Given the description of an element on the screen output the (x, y) to click on. 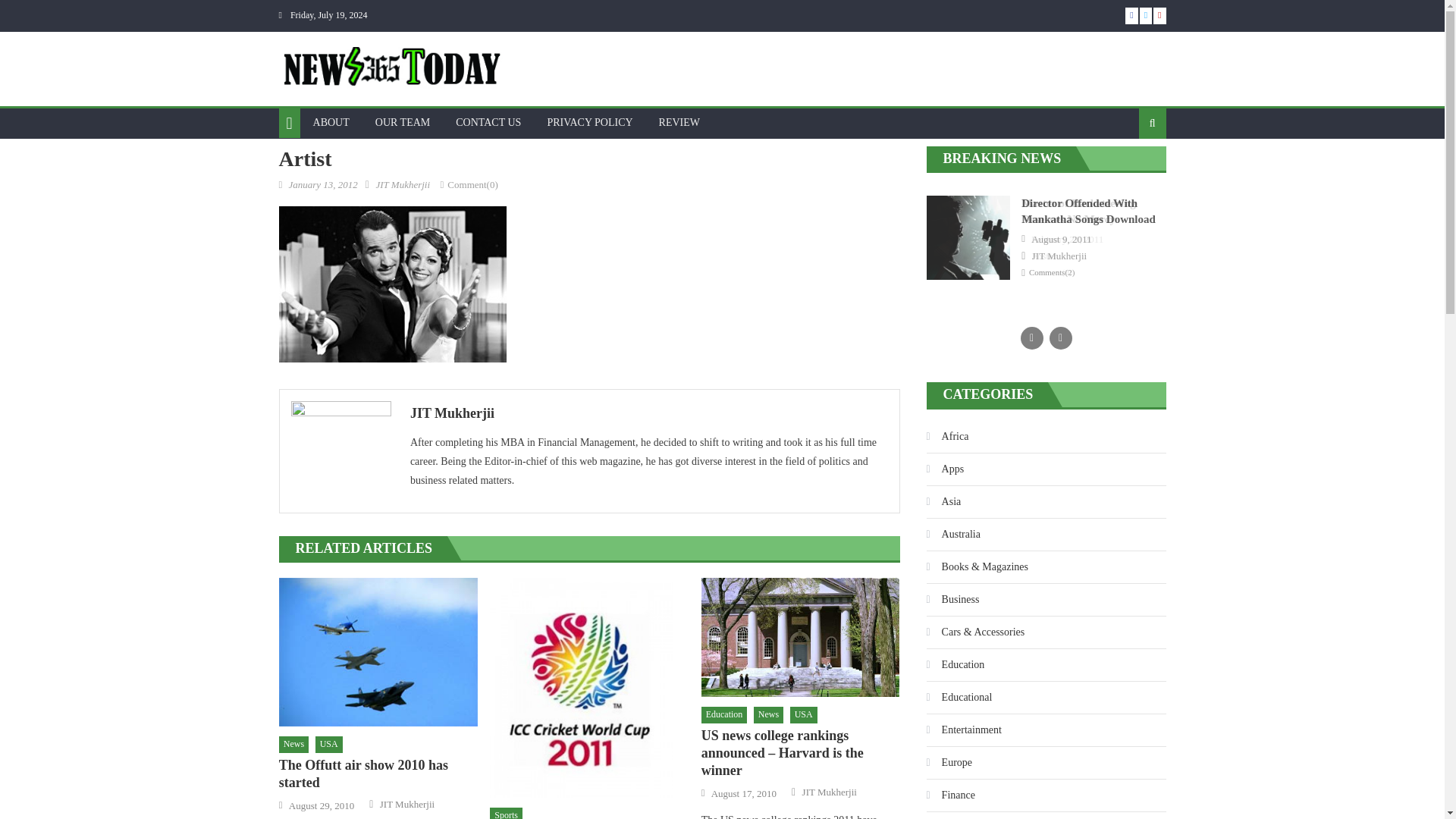
USA (328, 744)
The Offutt air show 2010 has started (378, 652)
JIT Mukherjii (406, 804)
ABOUT (331, 122)
JIT Mukherjii (649, 413)
August 29, 2010 (320, 806)
OUR TEAM (402, 122)
PRIVACY POLICY (589, 122)
JIT Mukherjii (402, 184)
JIT Mukherjii (829, 792)
Master of Racketeering Deserves No Mercy (1078, 211)
The Offutt air show 2010 has started (378, 774)
Sports (505, 813)
USA (803, 714)
World Cup Cricket Has Given A New Look To Bangladesh (588, 687)
